Given the description of an element on the screen output the (x, y) to click on. 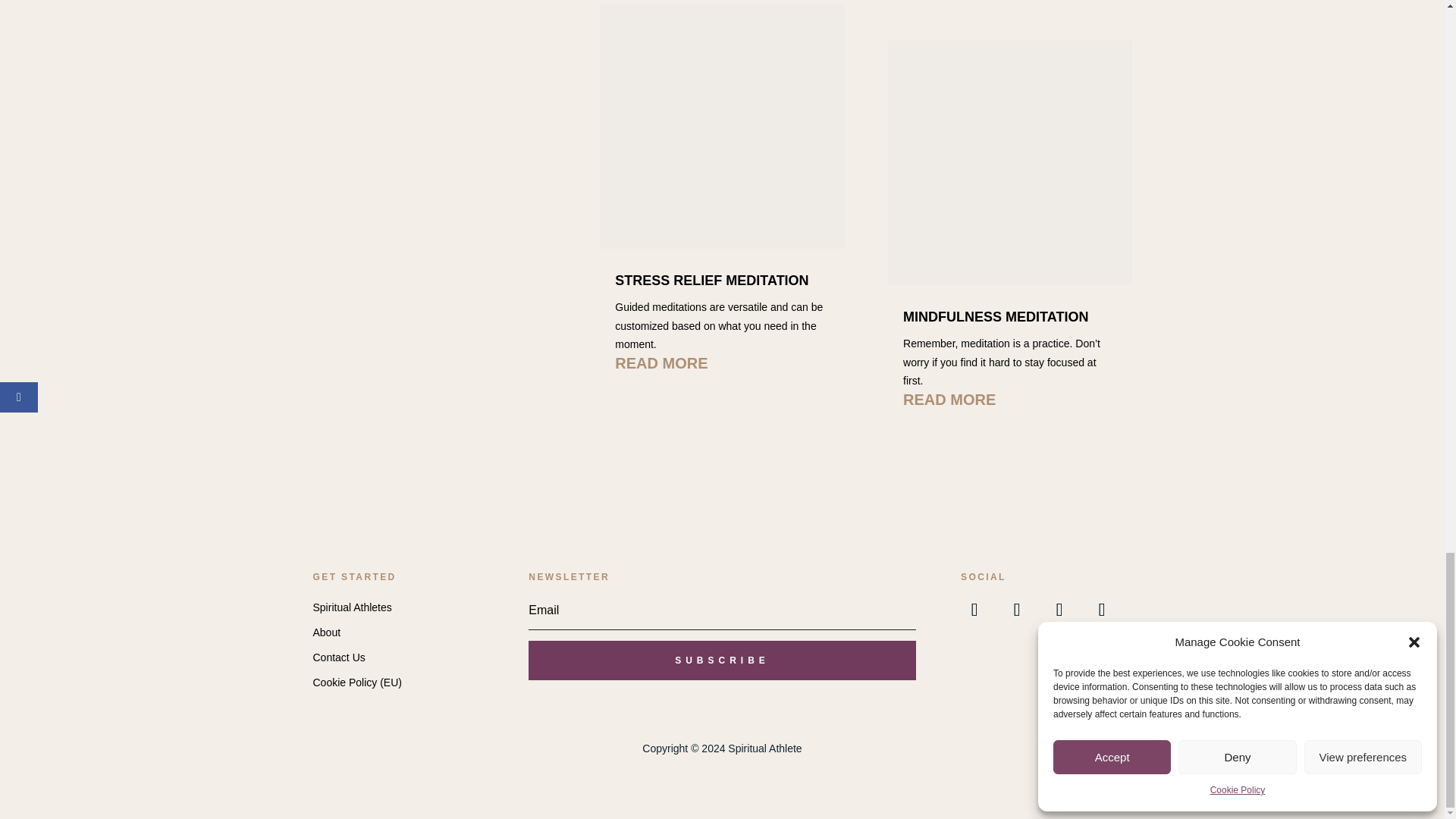
Follow on Facebook (974, 609)
Follow on TikTok (1101, 609)
Follow on Instagram (1059, 609)
Follow on Youtube (1016, 609)
